Given the description of an element on the screen output the (x, y) to click on. 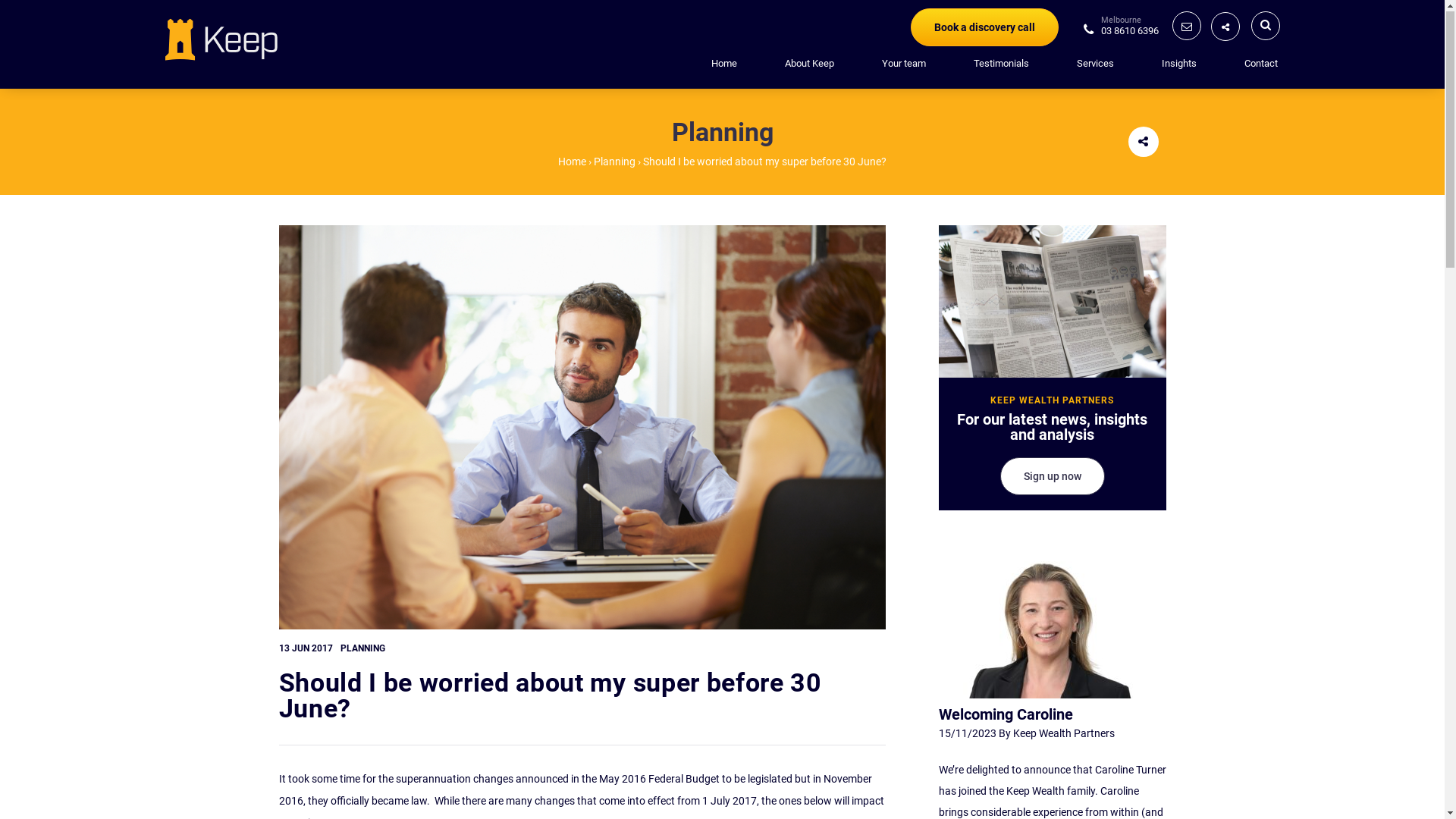
Your team Element type: text (902, 63)
Welcoming Caroline Element type: text (1005, 715)
Sign up now Element type: text (1051, 476)
Insights Element type: text (1179, 63)
Your team Element type: text (902, 64)
Testimonials Element type: text (1000, 63)
Services Element type: text (1095, 63)
Services Element type: text (1095, 64)
Keep Wealth Partners Element type: text (1063, 734)
Planning Element type: text (614, 162)
Contact Element type: text (1259, 64)
Book a discovery call Element type: text (983, 27)
Melbourne
03 8610 6396 Element type: text (1119, 30)
About Keep Element type: text (808, 64)
Home Element type: text (723, 63)
Keep Wealth Partners Element type: hover (221, 39)
About Keep Element type: text (808, 63)
Book a discovery call Element type: text (983, 28)
Home Element type: text (572, 162)
Melbourne
03 8610 6396 Element type: text (1119, 29)
Keep Wealth Partners Element type: hover (221, 38)
Testimonials Element type: text (1000, 64)
Insights Element type: text (1179, 64)
Contact Element type: text (1259, 63)
Search Element type: text (1110, 39)
Home Element type: text (723, 64)
